Given the description of an element on the screen output the (x, y) to click on. 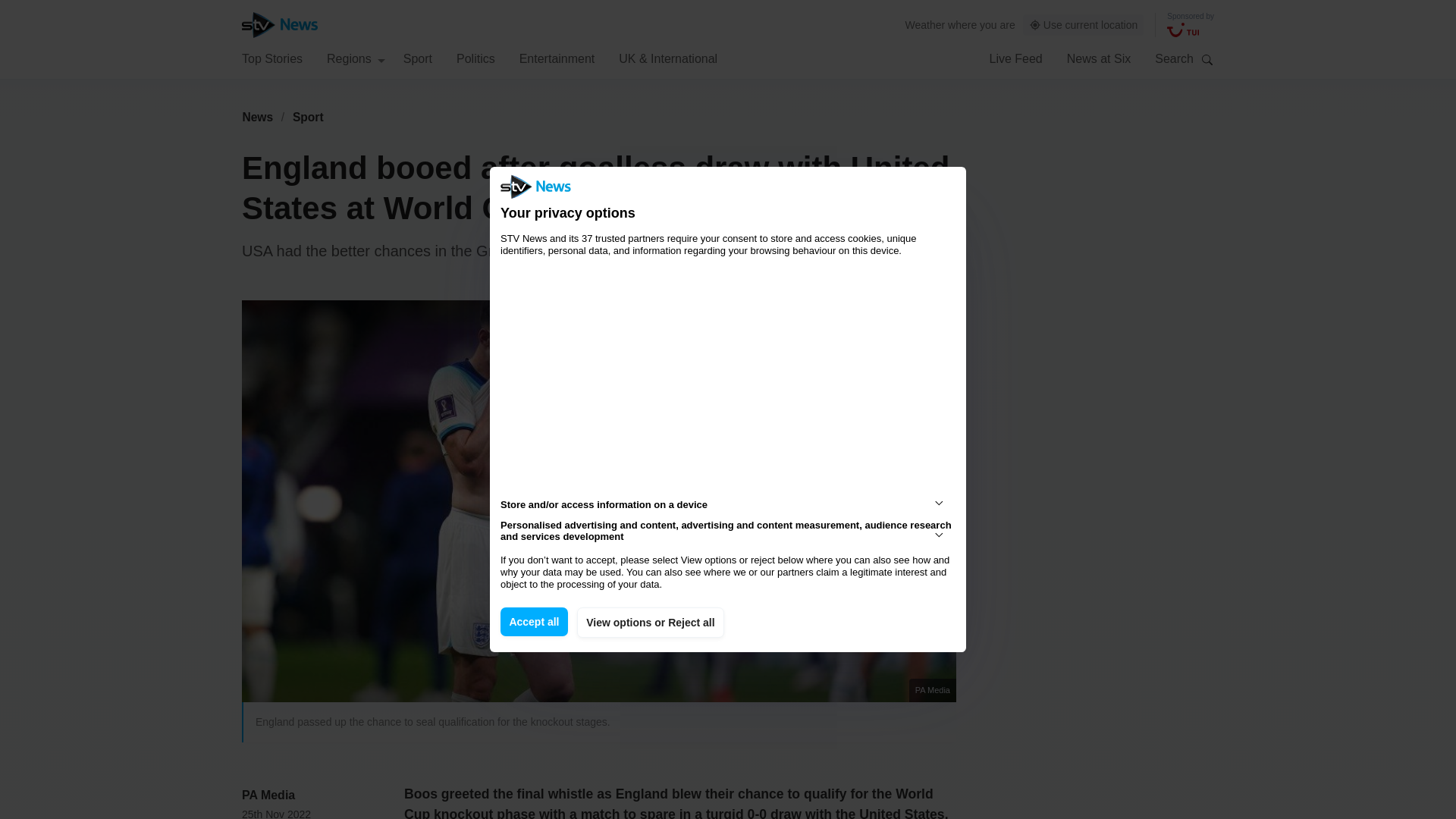
Use current location (1083, 25)
Regions (355, 57)
Live Feed (1015, 57)
Weather (924, 24)
News (257, 116)
Top Stories (271, 57)
Entertainment (557, 57)
Sport (308, 116)
News at Six (1099, 57)
Politics (476, 57)
Search (1206, 59)
Play Video (606, 507)
